Given the description of an element on the screen output the (x, y) to click on. 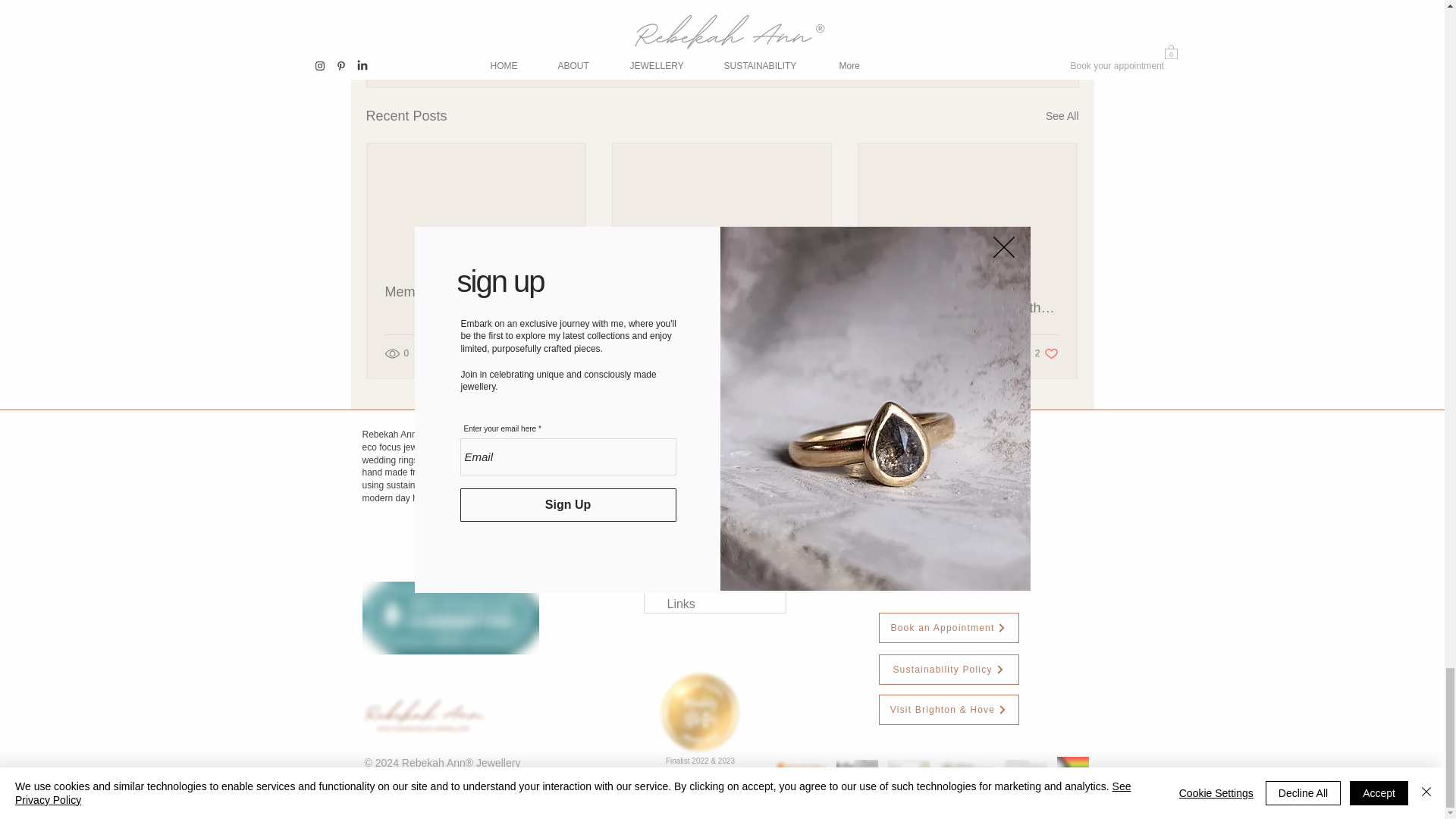
Modern-pride-flag-1.jpg (1073, 765)
